Given the description of an element on the screen output the (x, y) to click on. 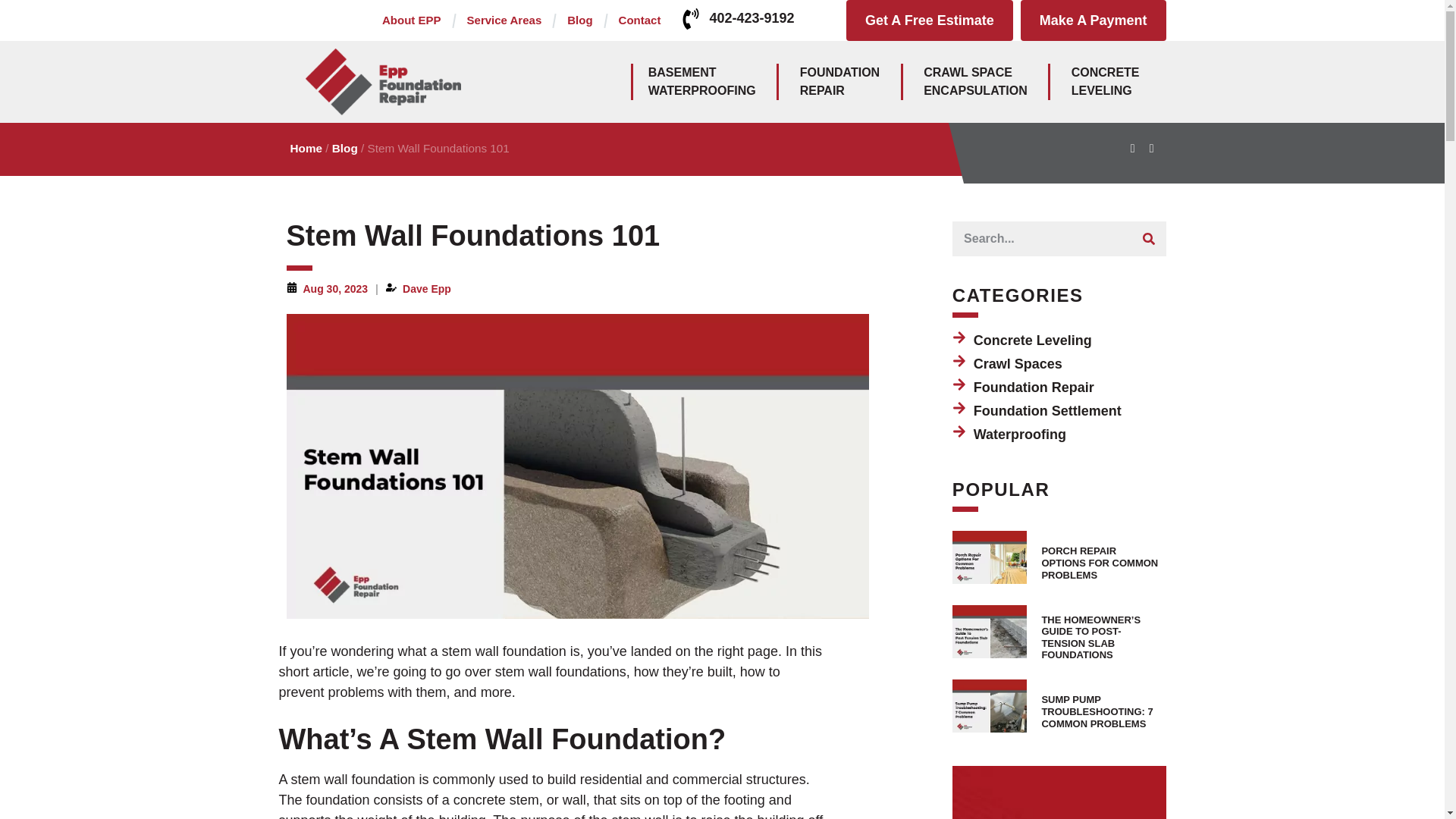
About EPP (839, 81)
Get A Free Estimate (410, 20)
Contact (975, 81)
Blog (702, 81)
402-423-9192 (929, 20)
Service Areas (639, 20)
